Given the description of an element on the screen output the (x, y) to click on. 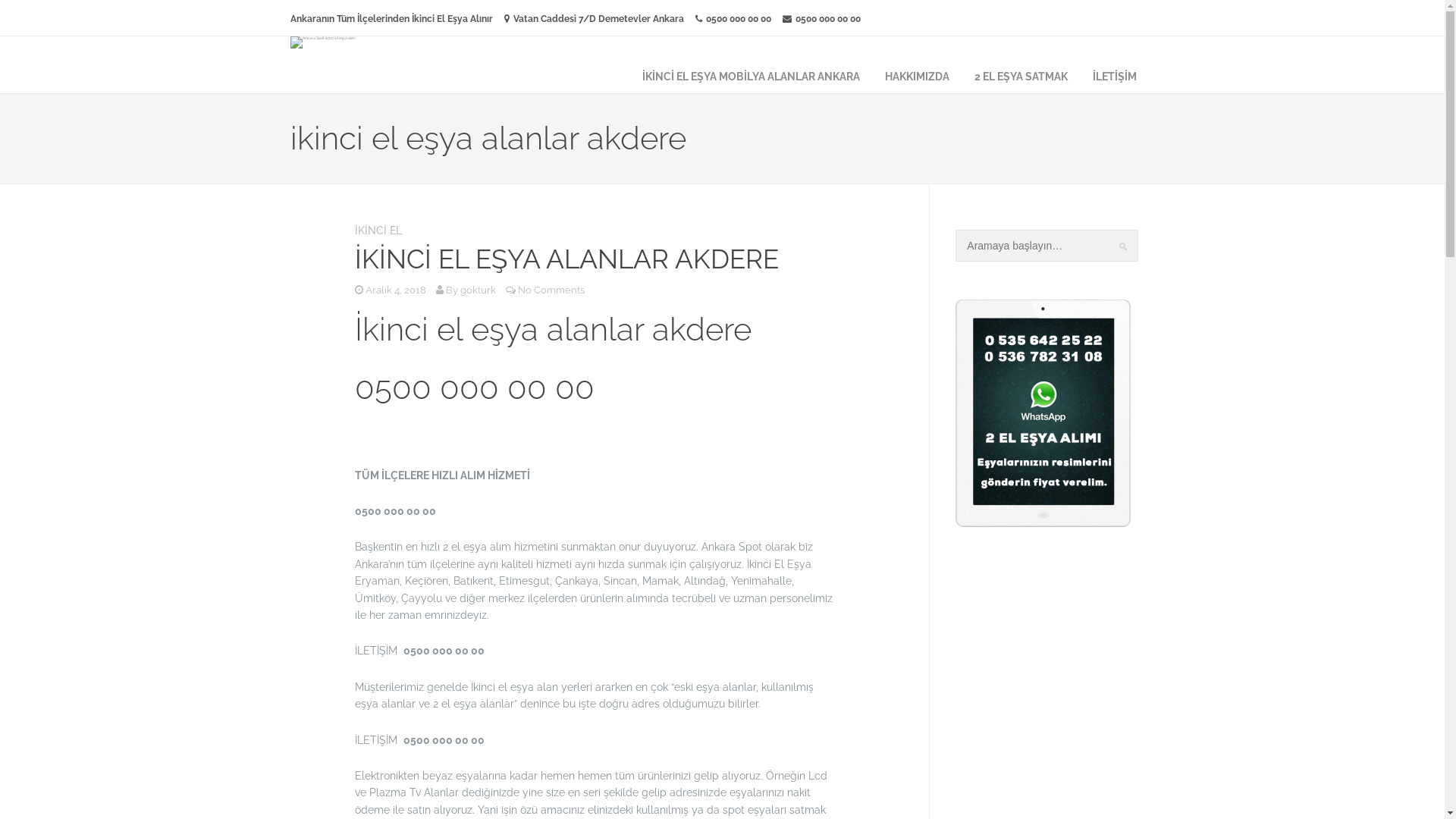
HAKKIMIZDA Element type: text (916, 76)
0500 000 00 00 Element type: text (821, 18)
IKINCI EL Element type: text (377, 233)
No Comments Element type: text (550, 289)
gokturk Element type: text (477, 289)
Search Element type: text (22, 8)
